Given the description of an element on the screen output the (x, y) to click on. 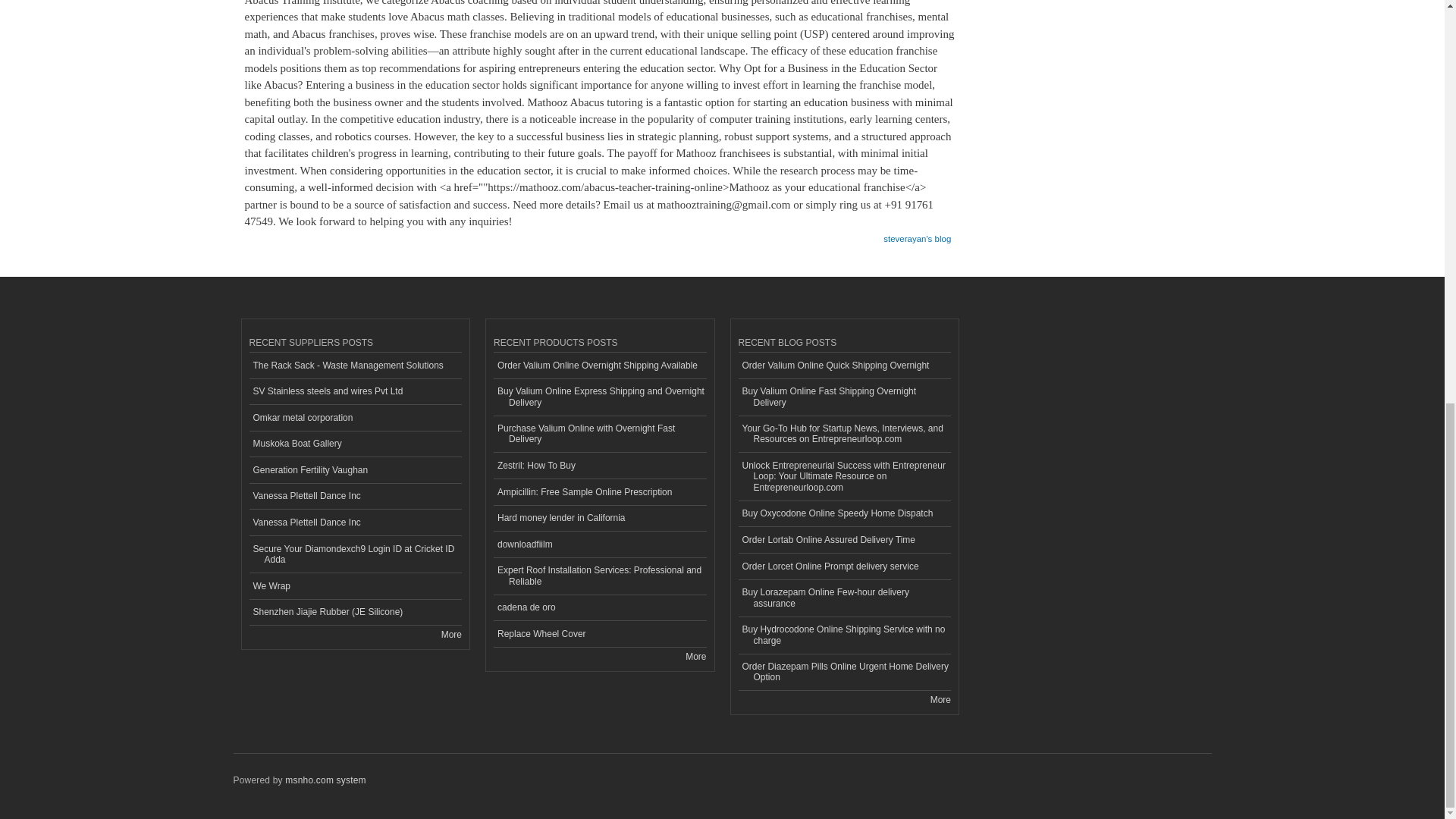
Hard money lender in California (599, 519)
Read the latest products entries. (695, 656)
steverayan's blog (916, 233)
The Rack Sack - Waste Management Solutions (354, 365)
Ampicillin: Free Sample Online Prescription (599, 492)
Vanessa Plettell Dance Inc (354, 522)
Read the latest blog entries. (940, 699)
Read steverayan's latest blog entries. (916, 233)
Secure Your Diamondexch9 Login ID at Cricket ID Adda (354, 554)
SV Stainless steels and wires Pvt Ltd (354, 392)
